Given the description of an element on the screen output the (x, y) to click on. 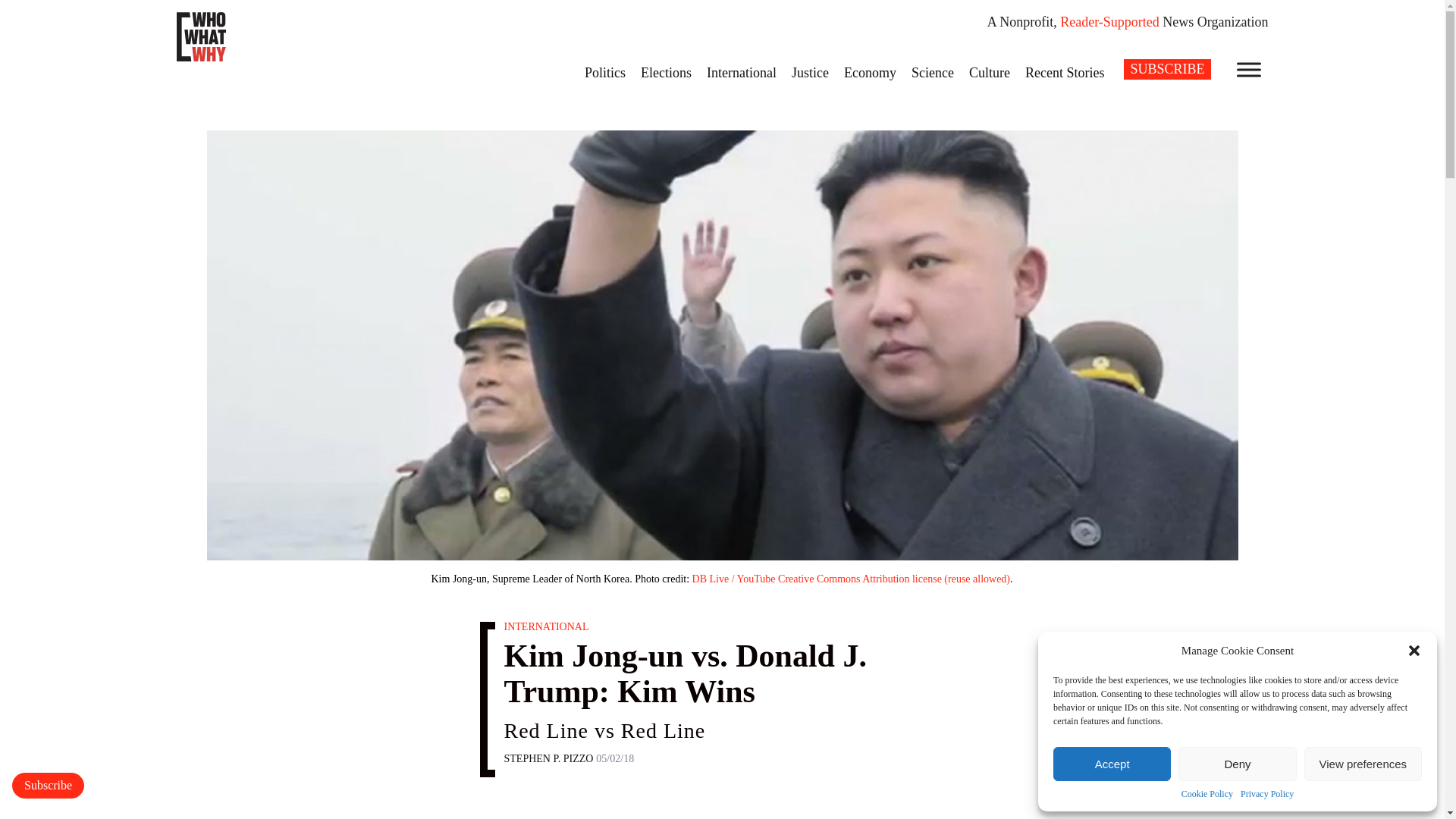
Reader-Supported (1108, 21)
Economy (869, 72)
Elections (665, 72)
Accept (1111, 763)
SUBSCRIBE (1166, 68)
Donate (47, 785)
Cookie Policy (1206, 794)
Posts by Stephen P. Pizzo (547, 758)
International (741, 72)
Justice (809, 72)
